Given the description of an element on the screen output the (x, y) to click on. 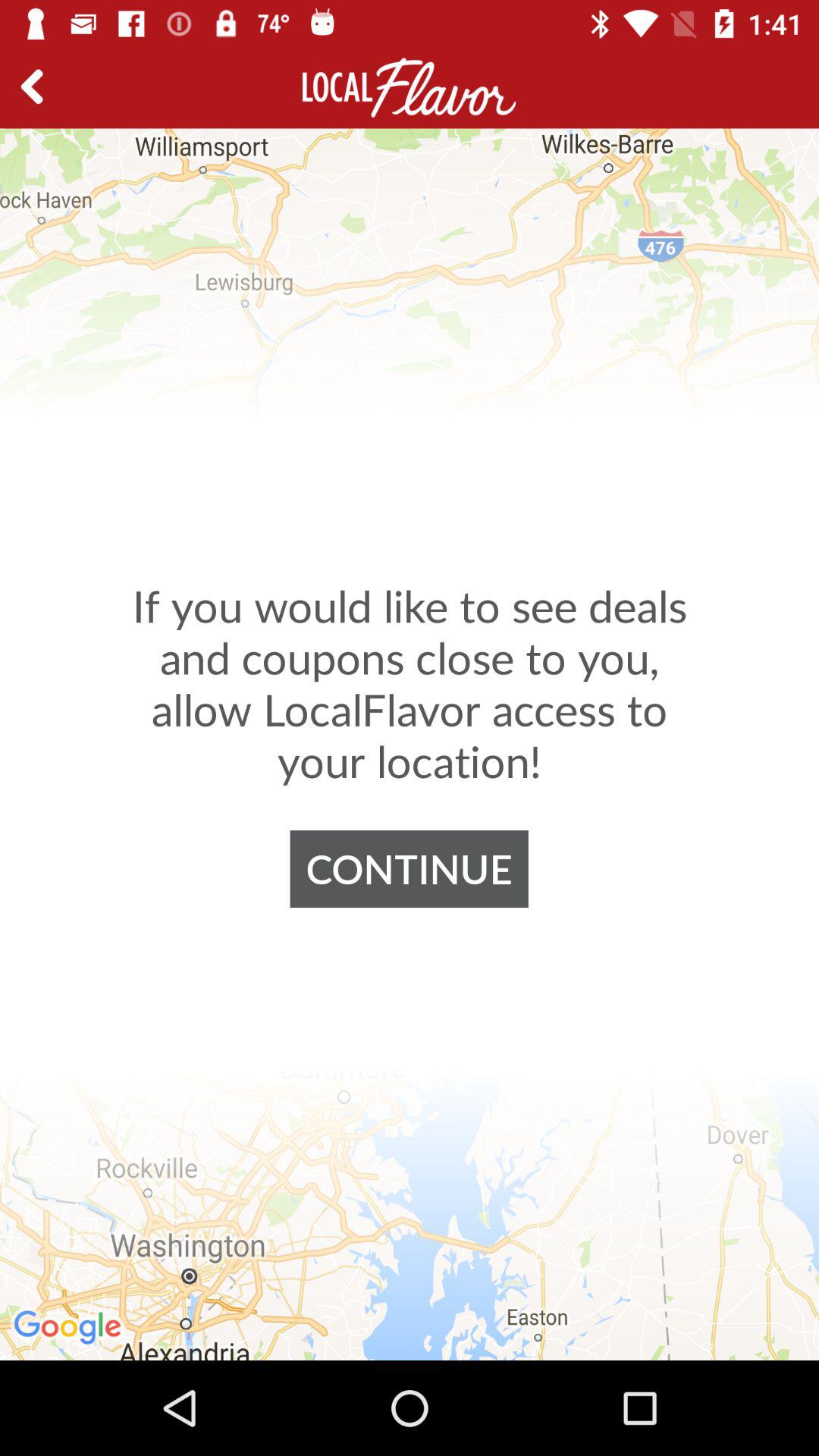
choose the continue (409, 868)
